Given the description of an element on the screen output the (x, y) to click on. 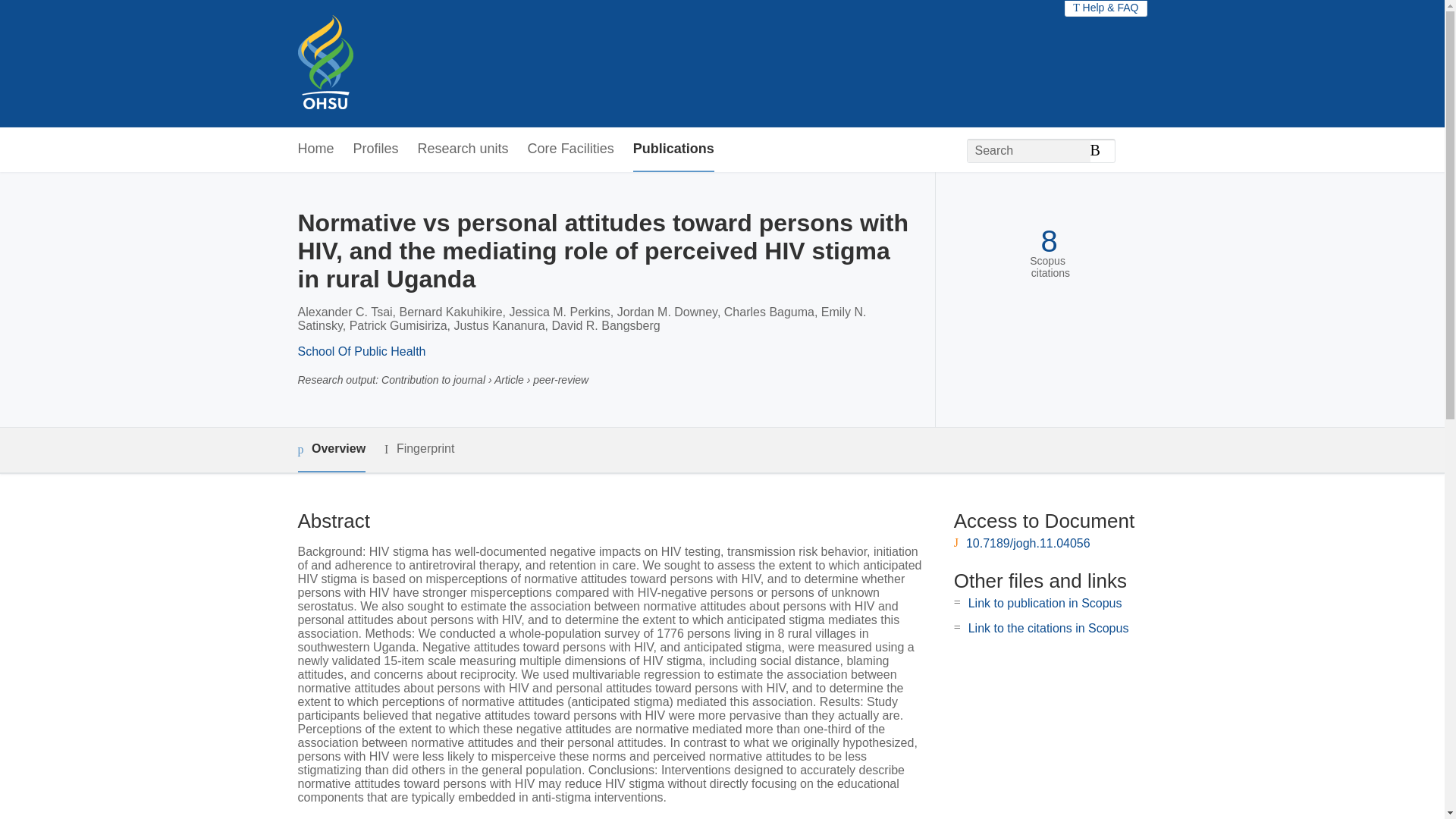
Overview (331, 449)
Link to publication in Scopus (1045, 603)
Core Facilities (570, 149)
Link to the citations in Scopus (1048, 627)
Publications (673, 149)
Profiles (375, 149)
Research units (462, 149)
Fingerprint (419, 448)
School Of Public Health (361, 350)
